Given the description of an element on the screen output the (x, y) to click on. 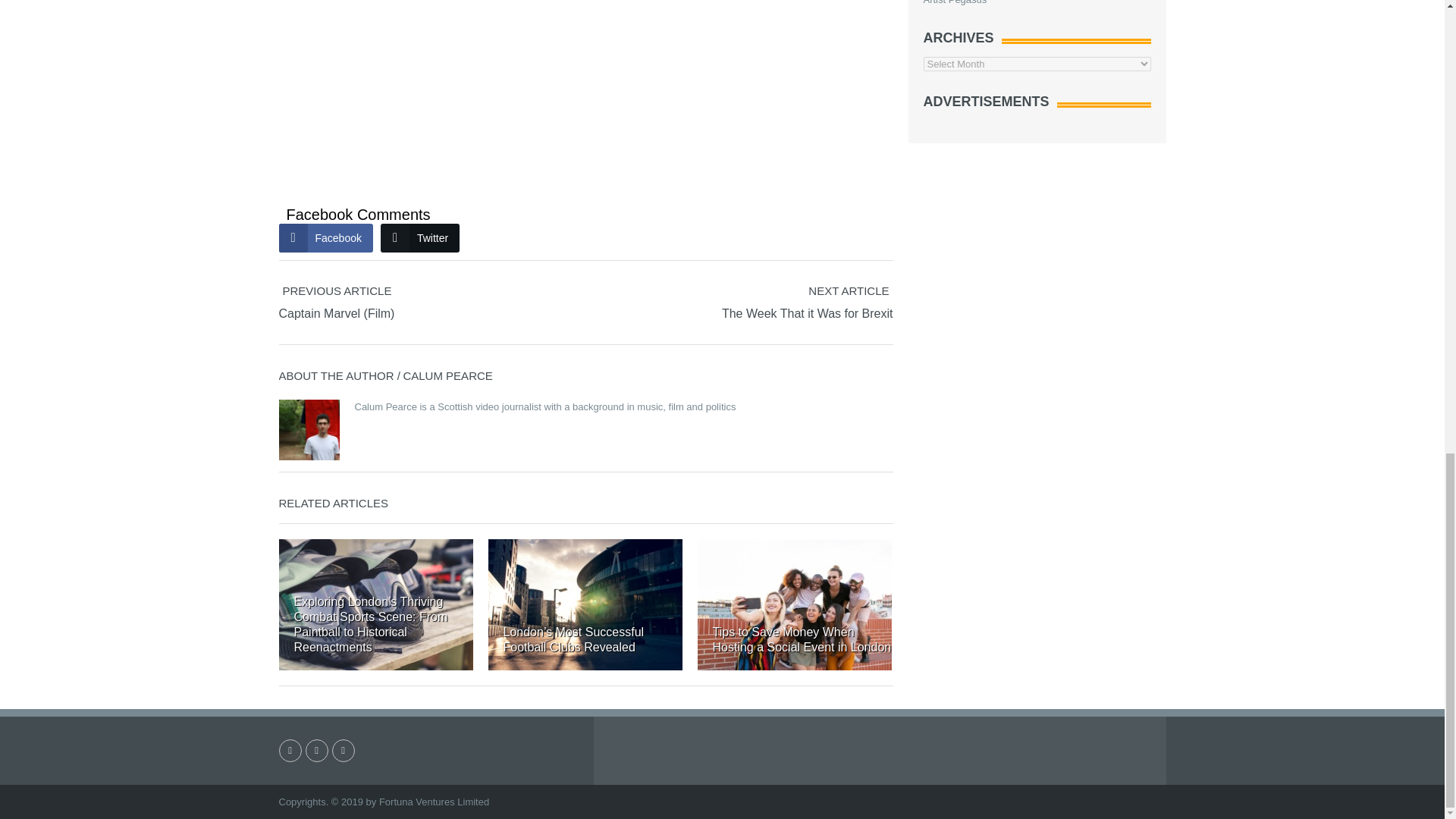
Posts by Calum Pearce (447, 375)
Facebook (325, 237)
The Week That it Was for Brexit (807, 313)
CALUM PEARCE (447, 375)
PREVIOUS ARTICLE (432, 302)
Twitter (420, 237)
NEXT ARTICLE (961, 302)
